Given the description of an element on the screen output the (x, y) to click on. 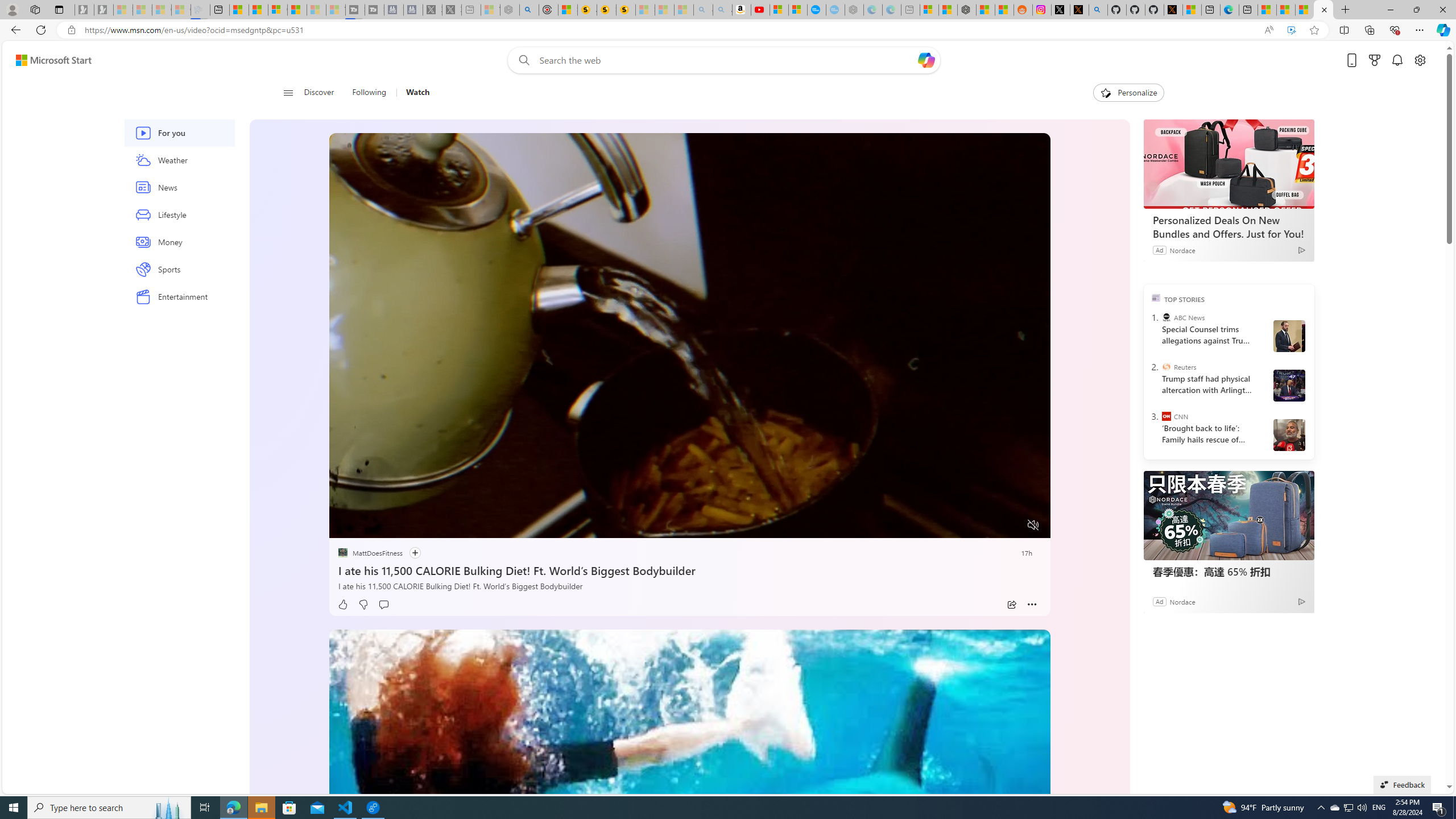
Fullscreen (1011, 525)
Class: button-glyph (287, 92)
Personalize (1128, 92)
